Given the description of an element on the screen output the (x, y) to click on. 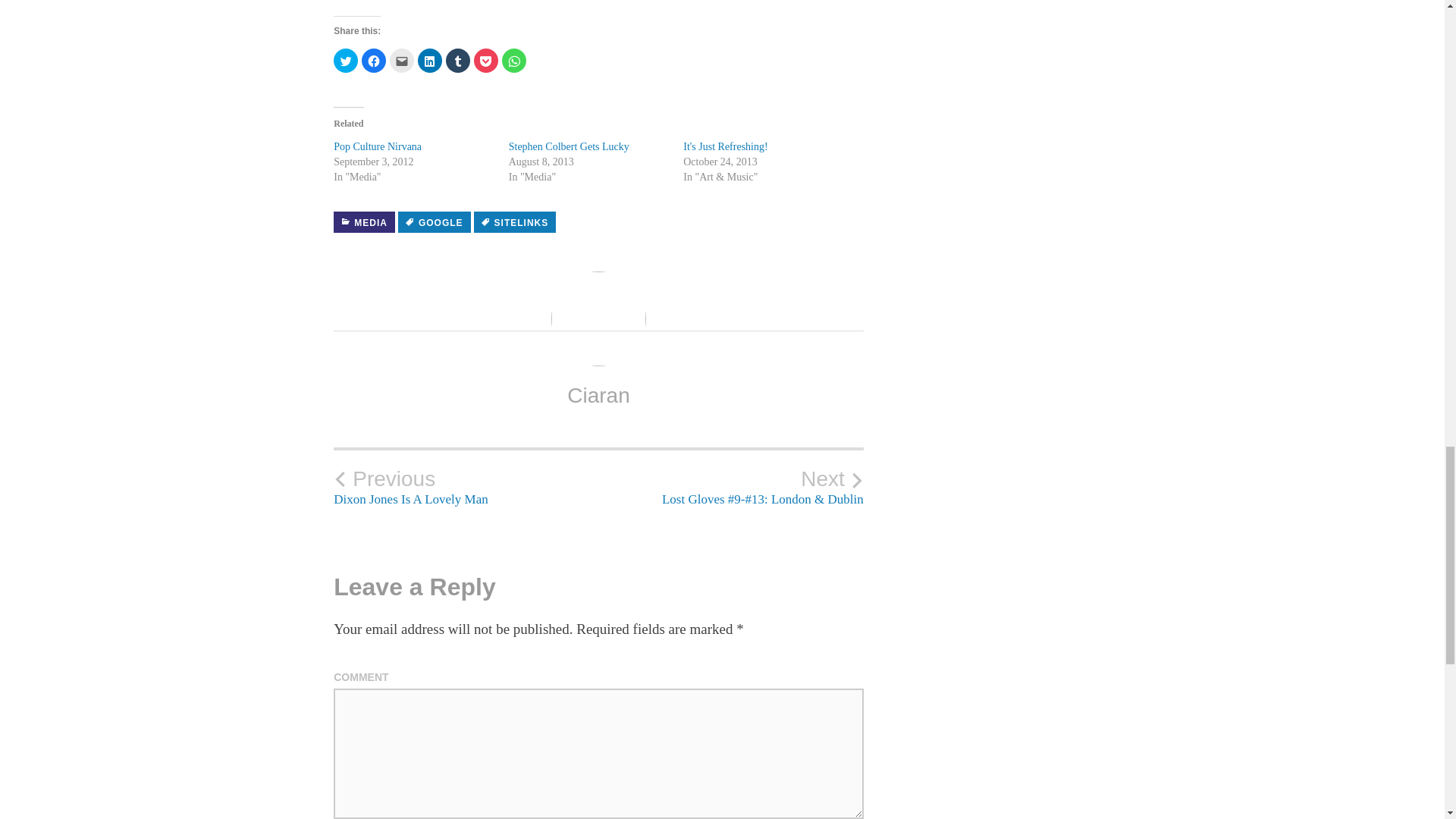
Stephen Colbert Gets Lucky (568, 146)
Click to email this to a friend (401, 60)
GOOGLE (433, 221)
Click to share on Twitter (345, 60)
It's Just Refreshing! (724, 146)
SITELINKS (465, 486)
Click to share on Facebook (515, 221)
Click to share on Tumblr (373, 60)
Stephen Colbert Gets Lucky (457, 60)
Pop Culture Nirvana (568, 146)
Pop Culture Nirvana (377, 146)
It's Just Refreshing! (377, 146)
Ciaran (724, 146)
Click to share on WhatsApp (597, 395)
